Given the description of an element on the screen output the (x, y) to click on. 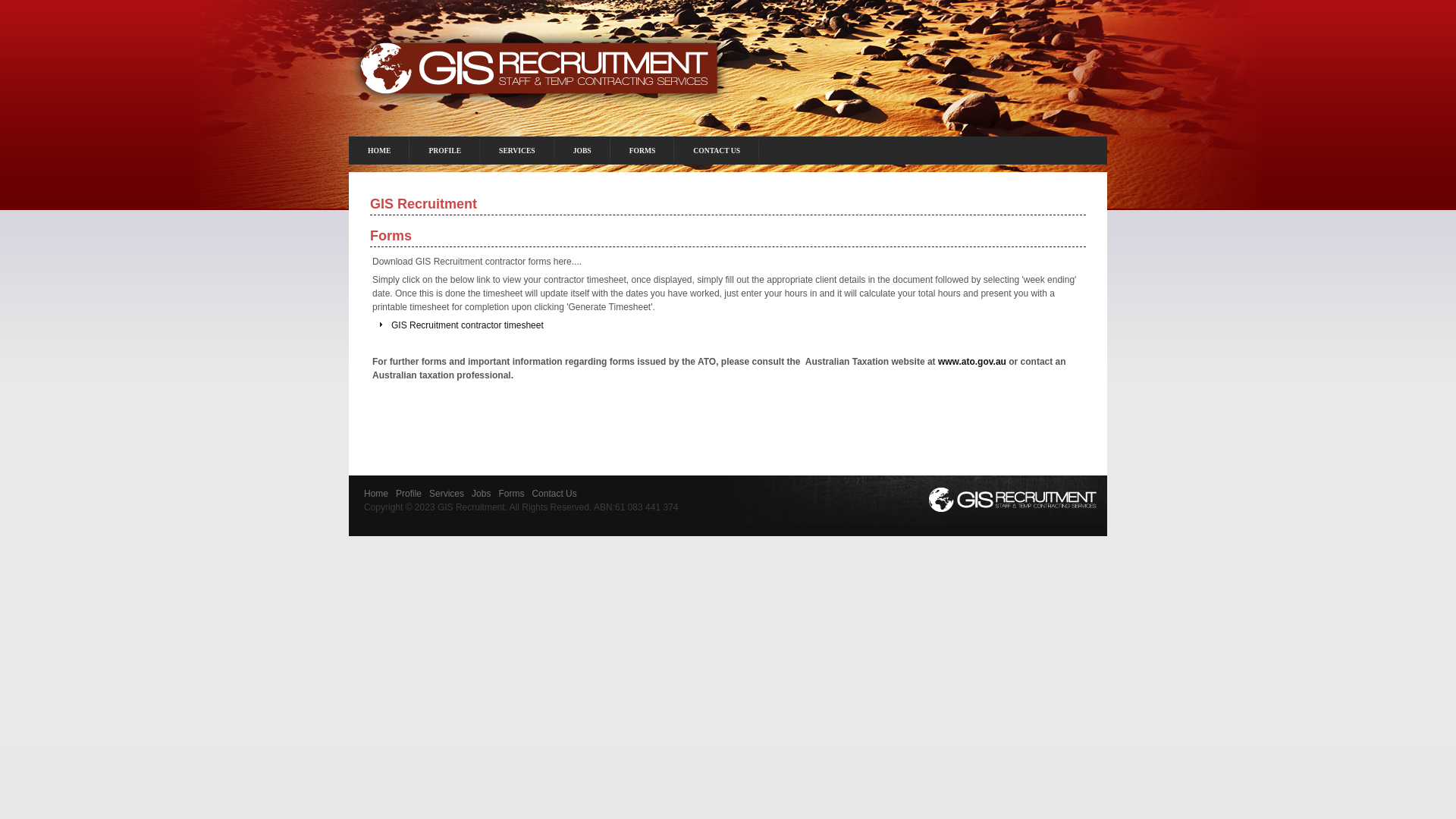
Staff and Temp contracting services for GIS Element type: text (538, 79)
Contact Us Element type: text (553, 493)
Jobs Element type: text (480, 493)
Home Element type: text (376, 493)
Services Element type: text (446, 493)
Profile Element type: text (408, 493)
www.ato.gov.au Element type: text (972, 361)
JOBS Element type: text (582, 150)
PROFILE Element type: text (444, 150)
Forms Element type: text (511, 493)
GIS Recruitment contractor timesheet Element type: text (467, 325)
SERVICES Element type: text (517, 150)
HOME Element type: text (378, 150)
CONTACT US Element type: text (716, 150)
FORMS Element type: text (642, 150)
